Given the description of an element on the screen output the (x, y) to click on. 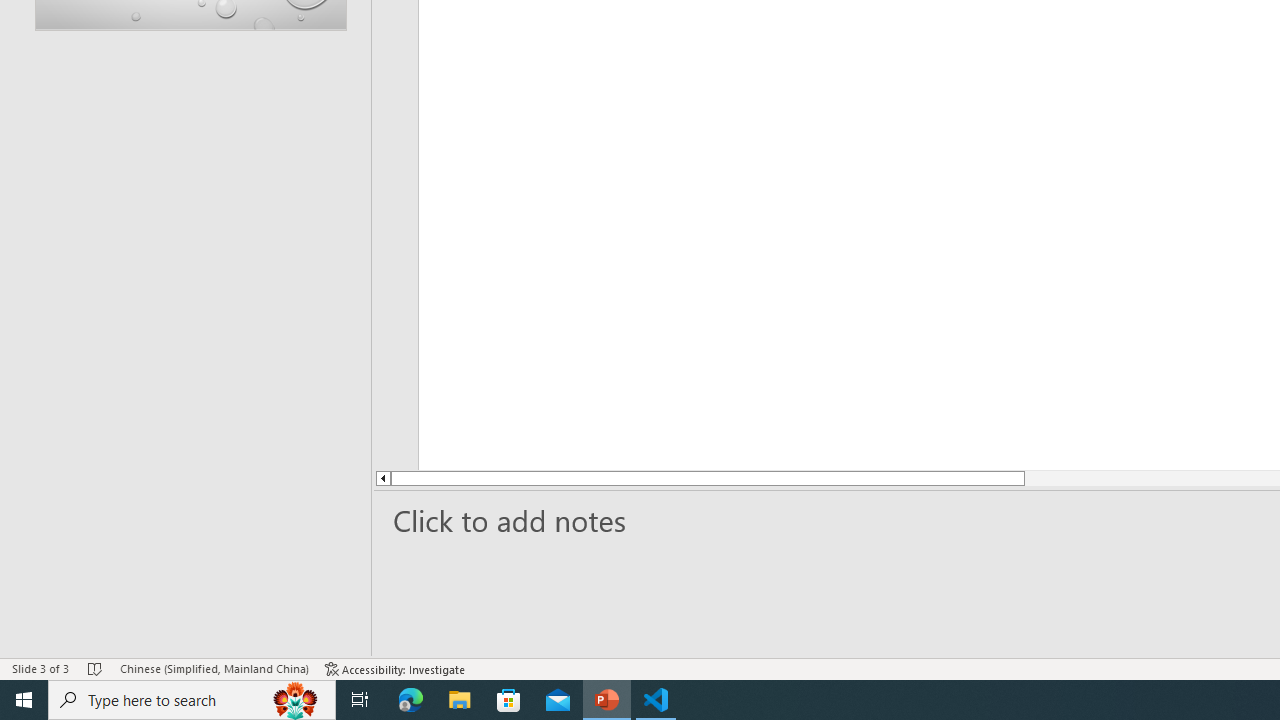
Page Number Screen 1 of 1  (62, 640)
